Given the description of an element on the screen output the (x, y) to click on. 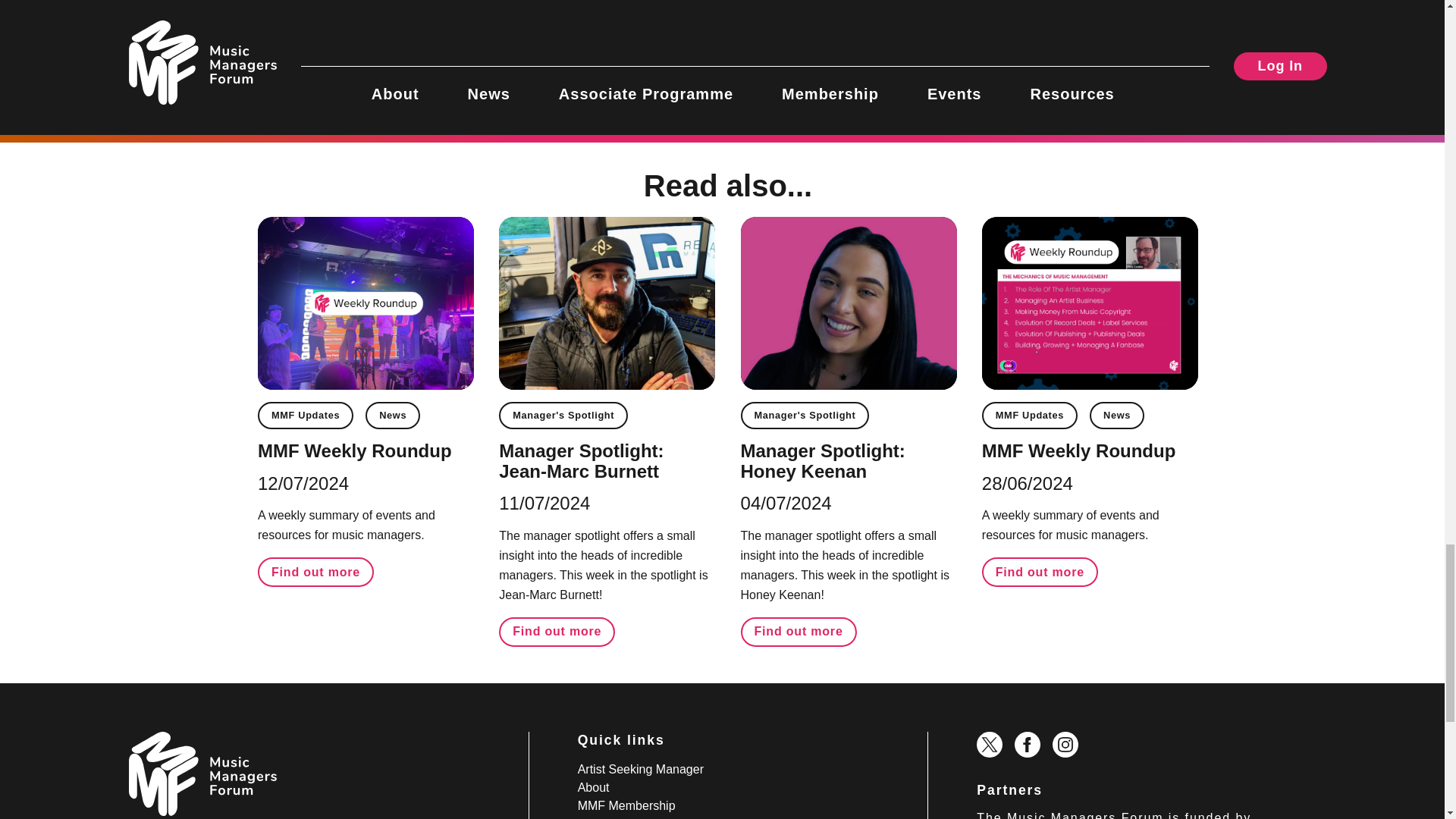
Manager's Spotlight (563, 415)
Find out more (315, 572)
Find out more (1039, 572)
MMF Updates (1029, 415)
Find out more (799, 632)
Find out more (556, 632)
News (1116, 415)
MMF Updates (305, 415)
Artist Seeking Manager (640, 768)
News (392, 415)
Manager's Spotlight (805, 415)
Join us (811, 12)
